Given the description of an element on the screen output the (x, y) to click on. 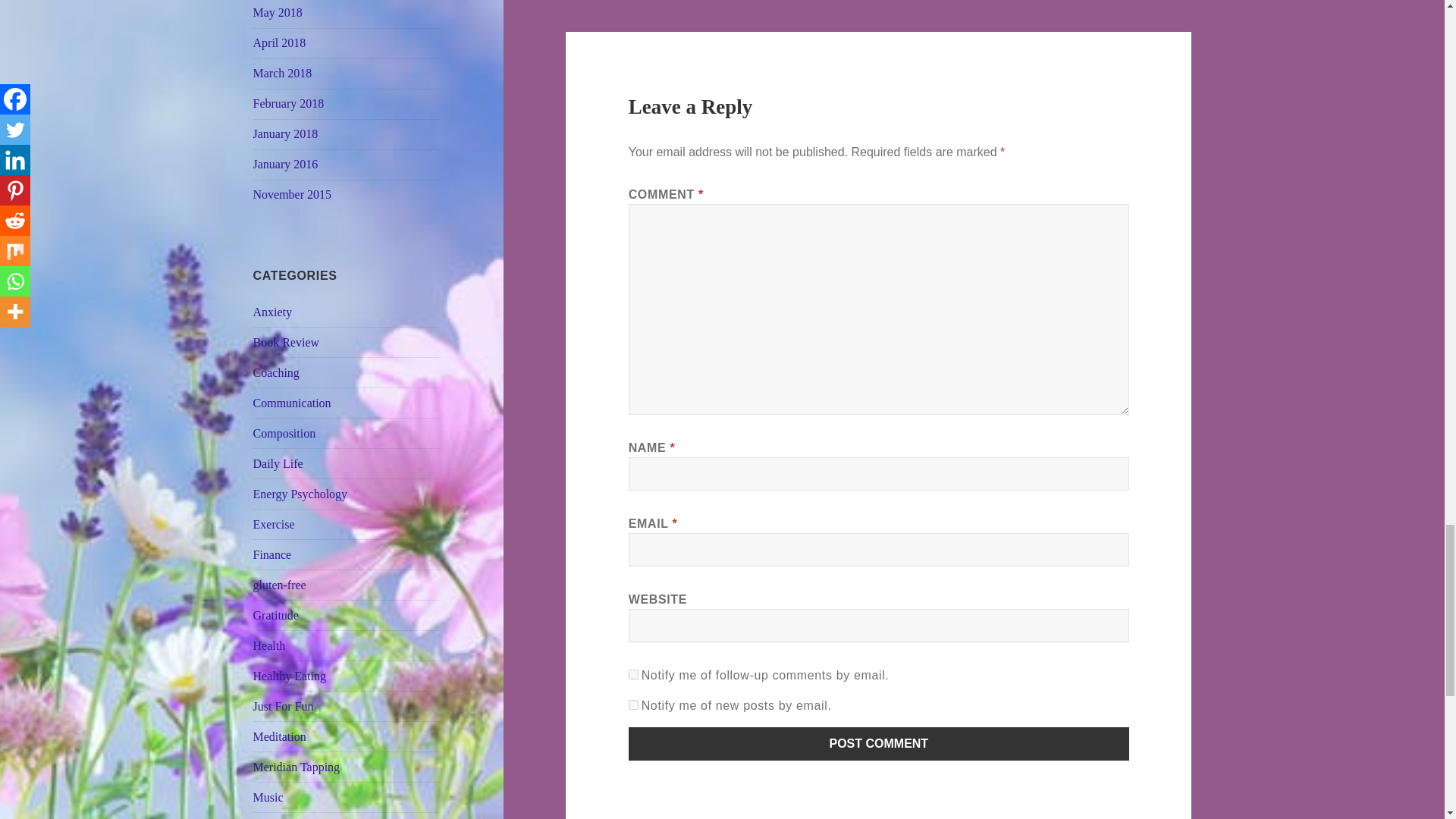
Post Comment (878, 743)
subscribe (633, 705)
subscribe (633, 674)
